Given the description of an element on the screen output the (x, y) to click on. 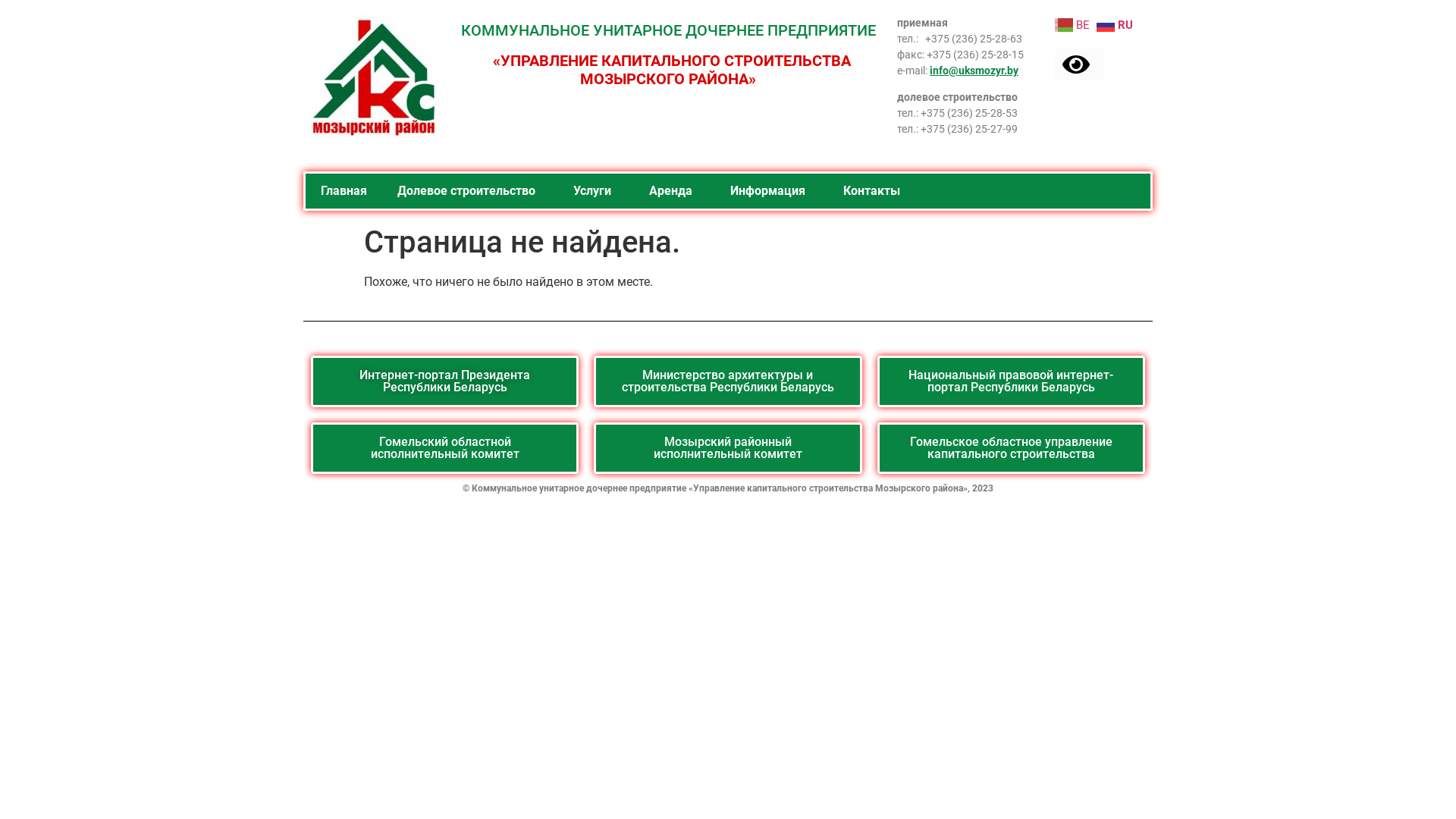
BE Element type: text (1073, 23)
info@uksmozyr.by Element type: text (973, 70)
RU Element type: text (1116, 23)
